Given the description of an element on the screen output the (x, y) to click on. 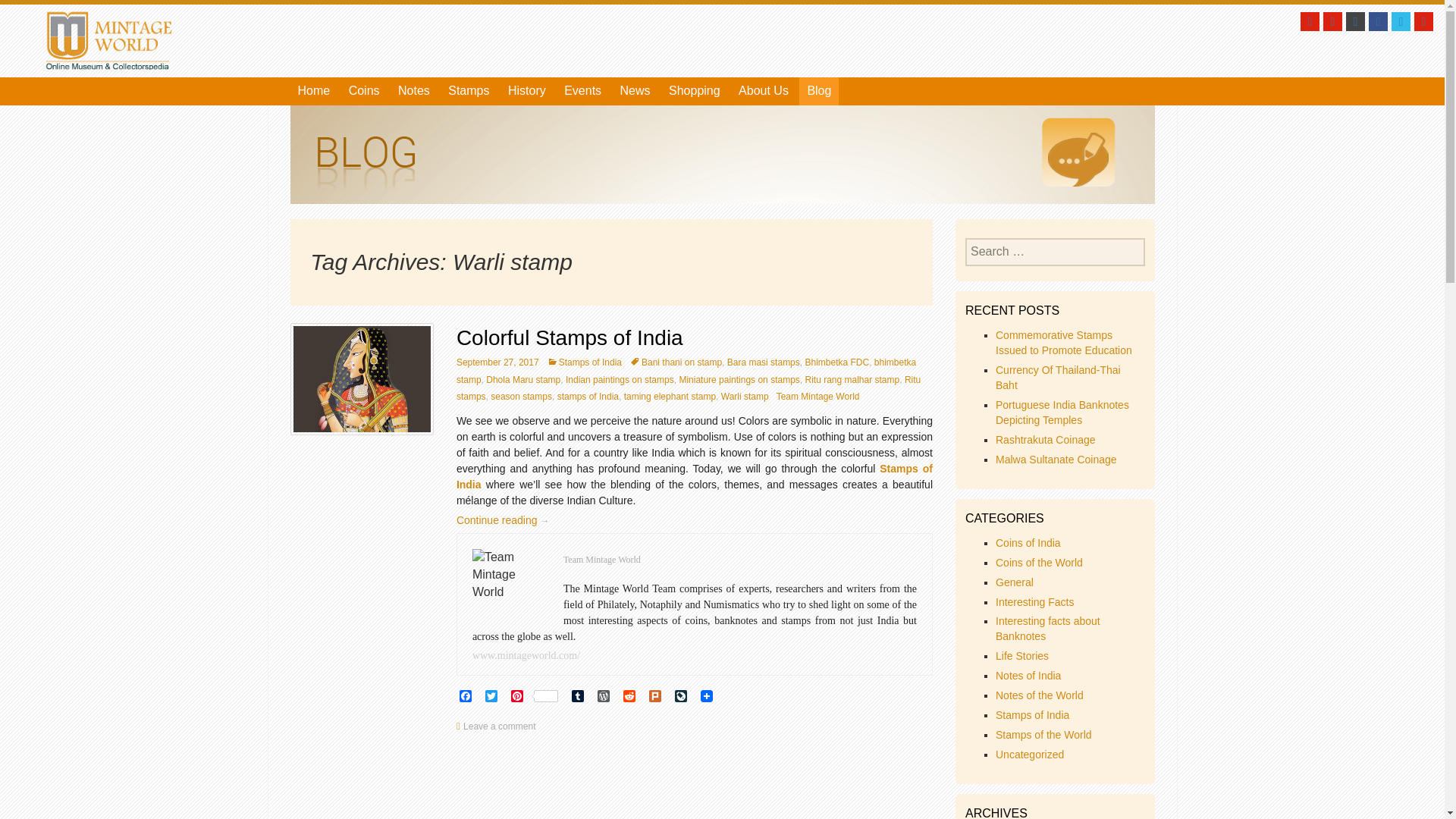
Stamps (468, 90)
stamps of India (587, 396)
Shopping (694, 90)
Twitter (494, 697)
Home (313, 90)
History (526, 90)
taming elephant stamp (670, 396)
Notes (414, 90)
About Us (763, 90)
Bara masi stamps (762, 362)
Stamps of India (695, 476)
WordPress (607, 697)
LiveJournal (684, 697)
Team Mintage World (818, 396)
News (635, 90)
